Given the description of an element on the screen output the (x, y) to click on. 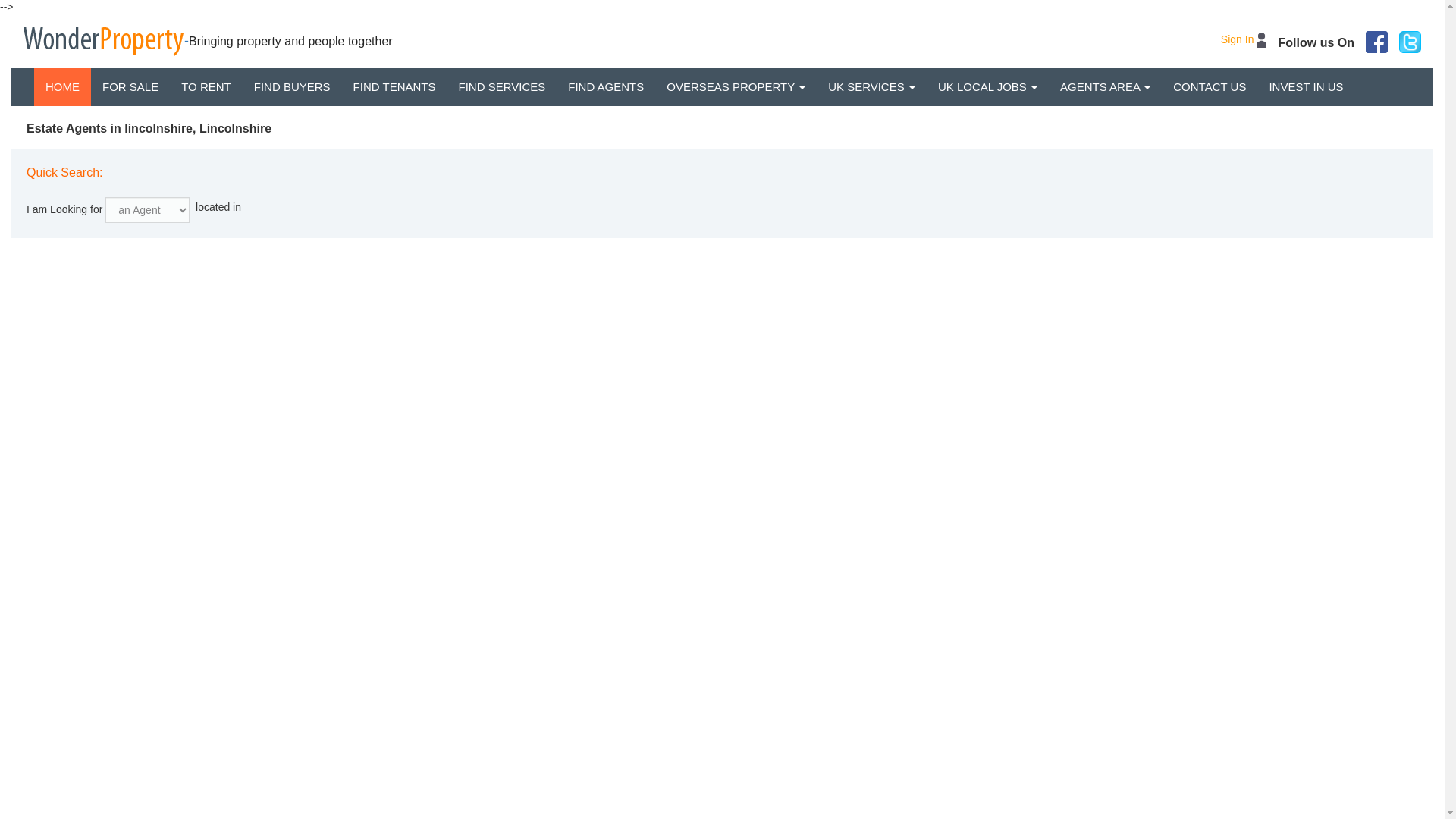
Search for Property To Rent (206, 86)
Sign in to Members Area (1243, 39)
UK SERVICES (871, 86)
Search for Property Services (501, 86)
Go to Home Page (61, 86)
Sign In (1243, 39)
FIND SERVICES (501, 86)
OVERSEAS PROPERTY (735, 86)
FIND AGENTS (605, 86)
Search for a Tenant (394, 86)
Search for Property For Sale (130, 86)
TO RENT (206, 86)
FOR SALE (130, 86)
Follow us on Facebook (1376, 42)
Search for an Estate Agent (605, 86)
